Given the description of an element on the screen output the (x, y) to click on. 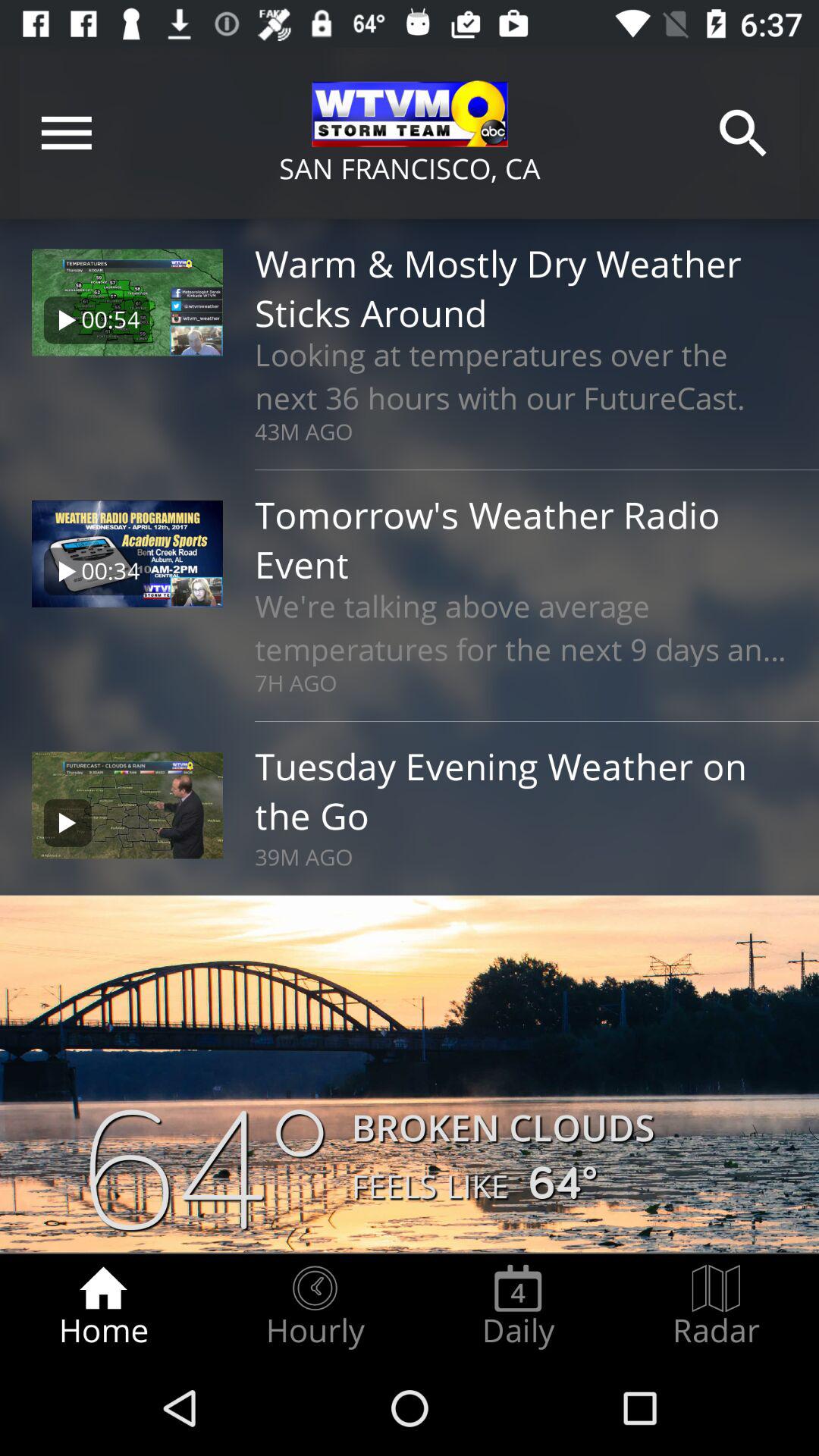
choose the radio button next to hourly radio button (518, 1307)
